Given the description of an element on the screen output the (x, y) to click on. 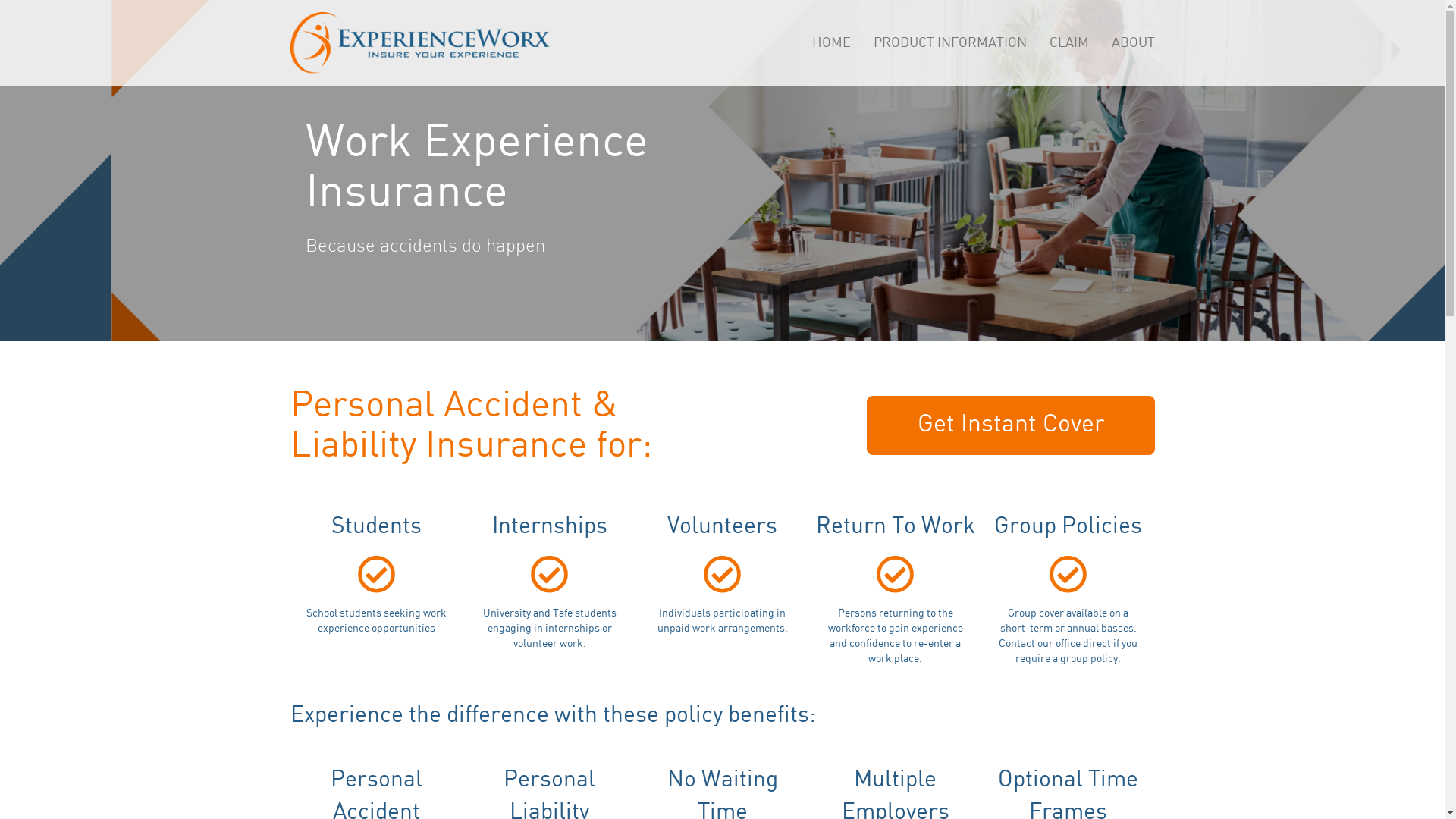
PRODUCT INFORMATION Element type: text (949, 43)
Experienceworx Element type: text (419, 42)
ABOUT Element type: text (1132, 43)
Get Instant Cover Element type: text (1010, 425)
HOME Element type: text (831, 43)
CLAIM Element type: text (1068, 43)
